Given the description of an element on the screen output the (x, y) to click on. 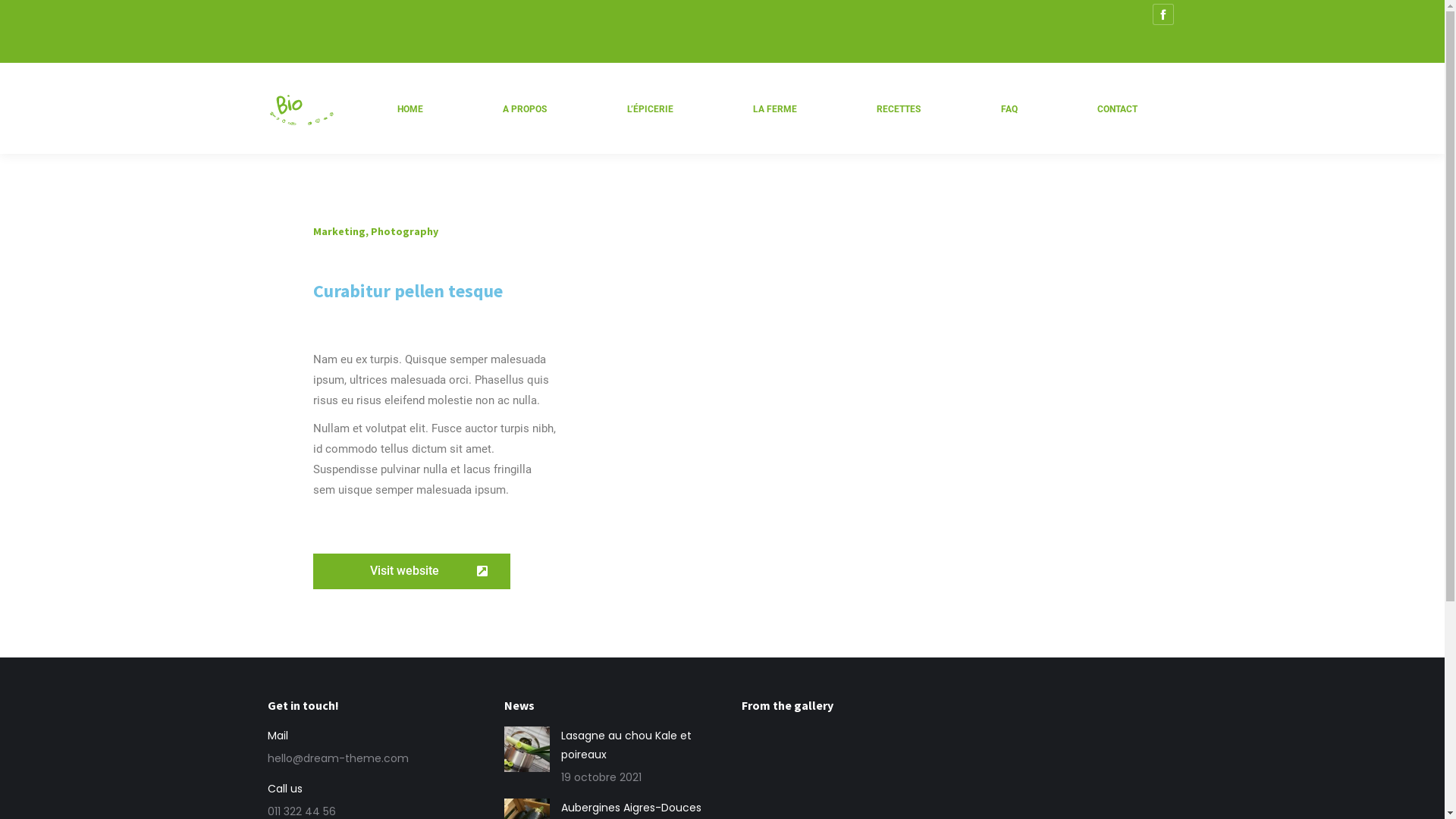
CONTACT Element type: text (1117, 108)
Lasagne au chou Kale et poireaux Element type: text (632, 745)
A PROPOS Element type: text (524, 108)
RECETTES Element type: text (898, 108)
Facebook page opens in new window Element type: hover (1162, 14)
FAQ Element type: text (1009, 108)
HOME Element type: text (409, 108)
LA FERME Element type: text (774, 108)
Photography Element type: text (403, 231)
Marketing Element type: text (338, 231)
Visit website Element type: text (410, 571)
